Given the description of an element on the screen output the (x, y) to click on. 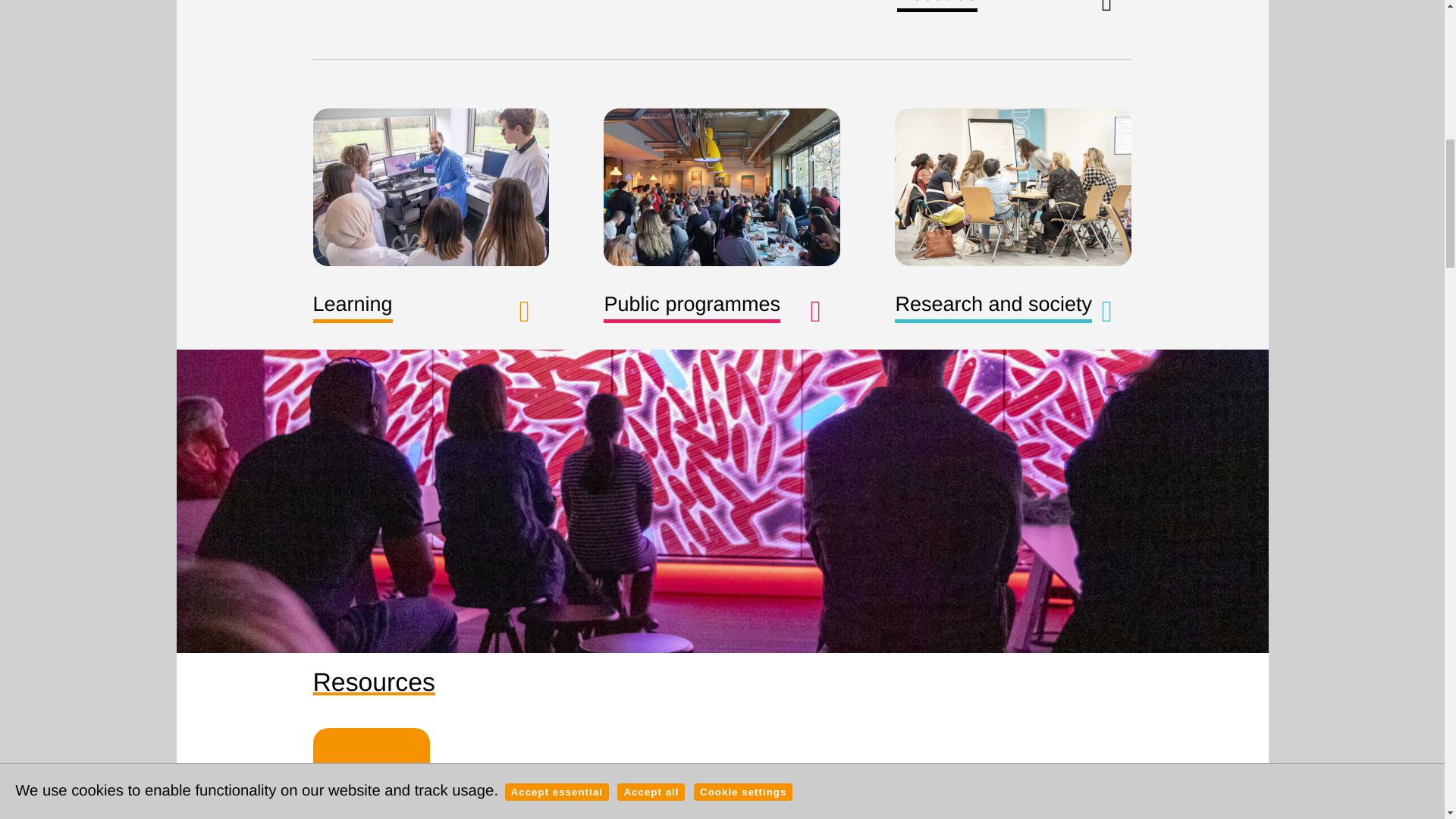
Learning (352, 307)
About us (937, 6)
Public programmes (692, 307)
